Given the description of an element on the screen output the (x, y) to click on. 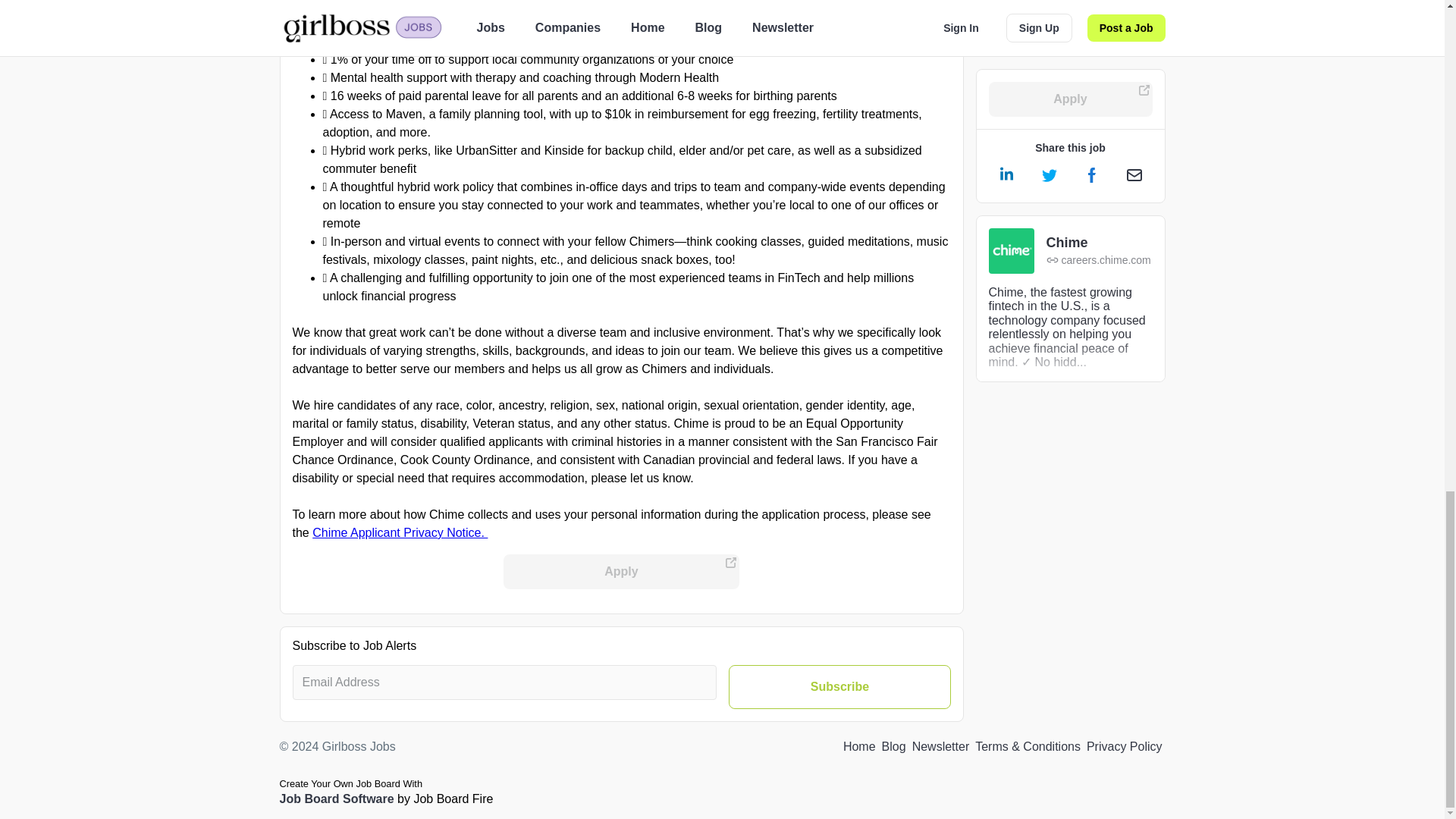
Chime Applicant Privacy Notice.  (400, 532)
Home (859, 746)
Blog (893, 746)
Job Board Software (336, 798)
Privacy Policy (1124, 746)
Job Board Software (336, 798)
Subscribe (839, 687)
Apply (621, 571)
Newsletter (940, 746)
